Given the description of an element on the screen output the (x, y) to click on. 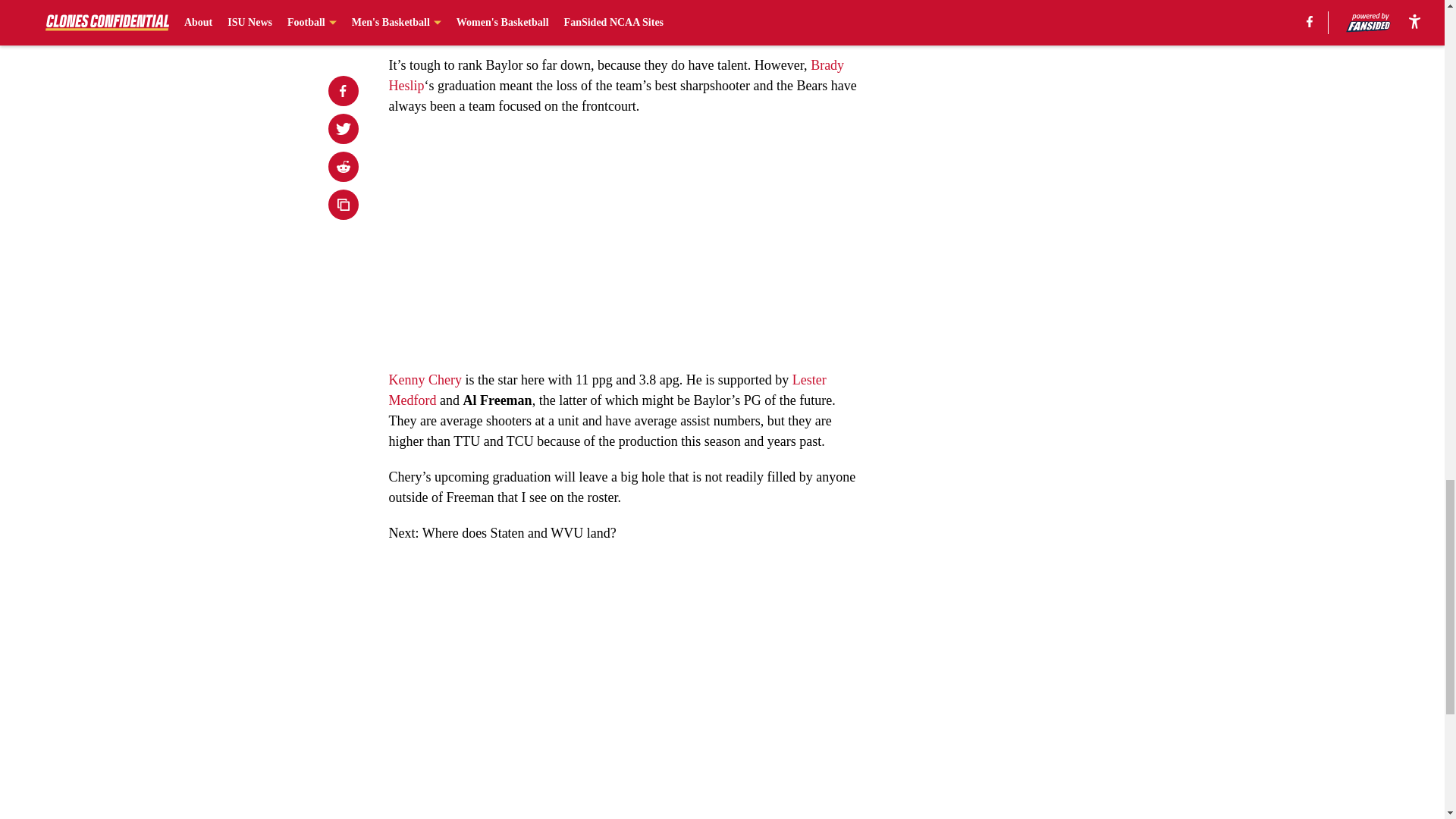
Lester Medford (606, 389)
Kenny Chery (424, 379)
Brady Heslip (616, 75)
